Given the description of an element on the screen output the (x, y) to click on. 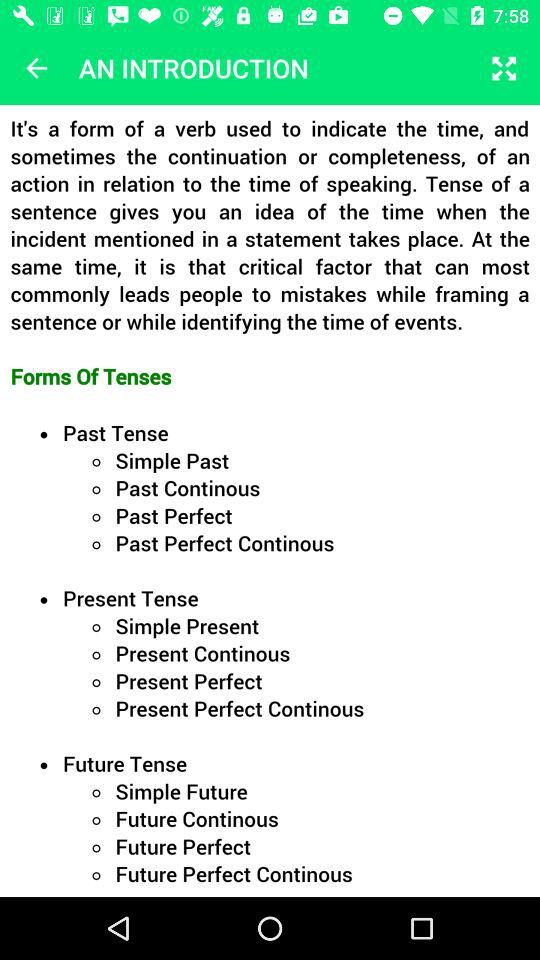
go back (36, 68)
